Given the description of an element on the screen output the (x, y) to click on. 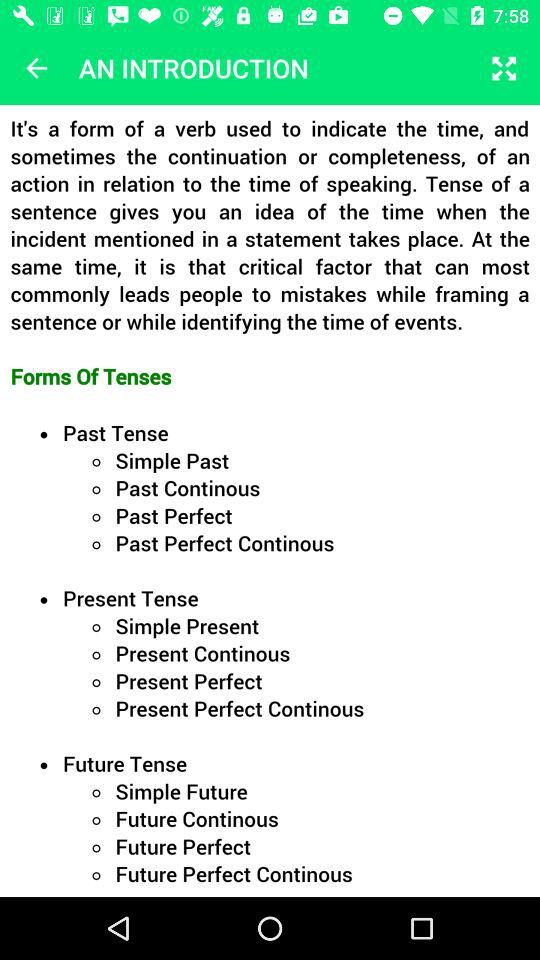
go back (36, 68)
